Given the description of an element on the screen output the (x, y) to click on. 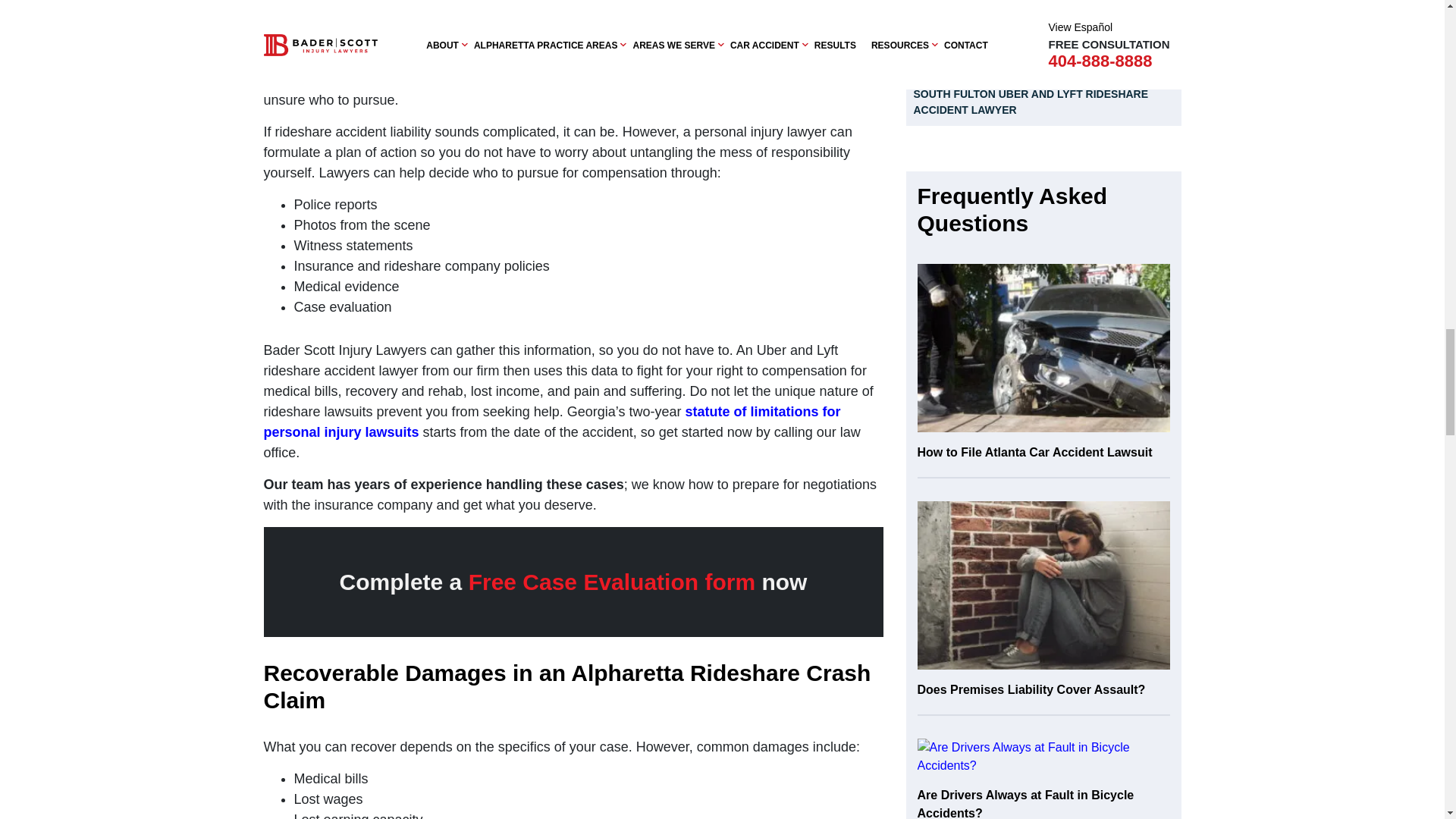
Does Premises Liability Cover Assault? (1043, 585)
Are Drivers Always at Fault in Bicycle Accidents? (1043, 756)
Are Drivers Always at Fault in Bicycle Accidents? (1043, 778)
How to File Atlanta Car Accident Lawsuit (1043, 347)
How to File Atlanta Car Accident Lawsuit (1043, 370)
Does Premises Liability Cover Assault? (1043, 608)
